Given the description of an element on the screen output the (x, y) to click on. 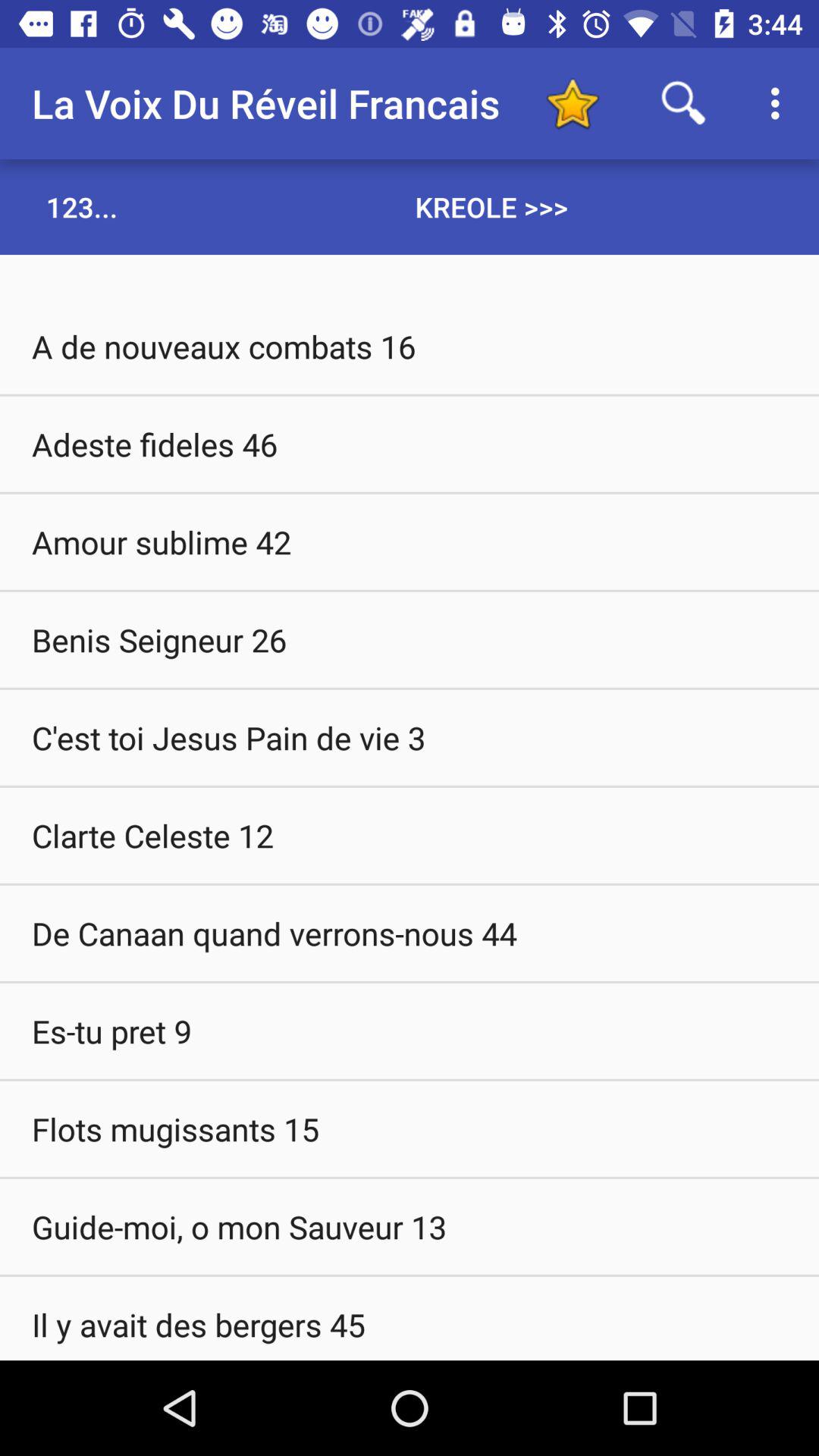
turn on the item above the il y avait item (409, 1226)
